Given the description of an element on the screen output the (x, y) to click on. 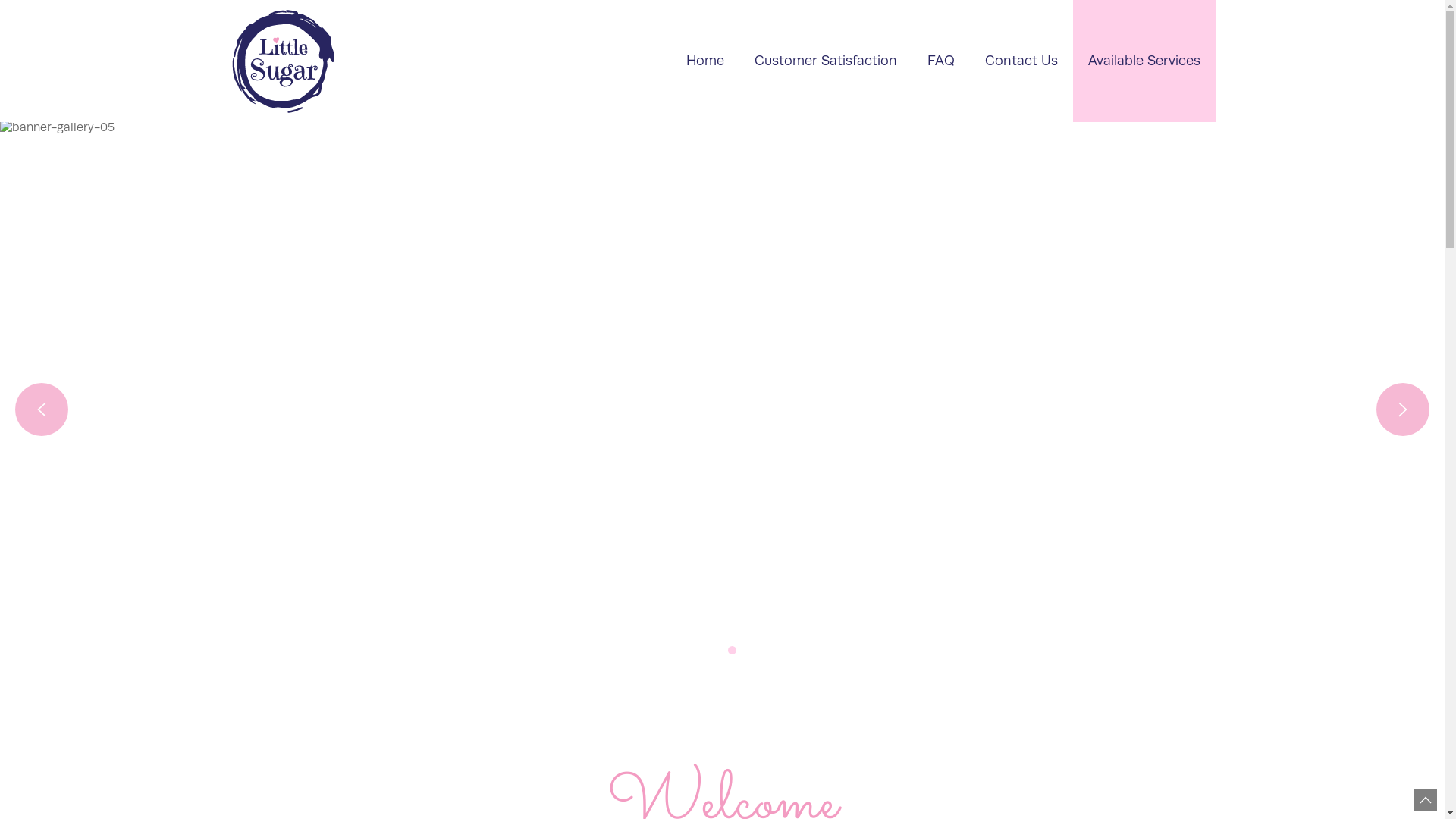
FAQ Element type: text (940, 61)
2 Element type: text (674, 649)
Customer Satisfaction Element type: text (824, 61)
8 Element type: text (787, 649)
7 Element type: text (769, 649)
Contact Us Element type: text (1020, 61)
6 Element type: text (750, 649)
Home Element type: text (704, 61)
5 Element type: text (731, 649)
Available Services Element type: text (1143, 61)
4 Element type: text (712, 649)
3 Element type: text (693, 649)
1 Element type: text (656, 649)
